Given the description of an element on the screen output the (x, y) to click on. 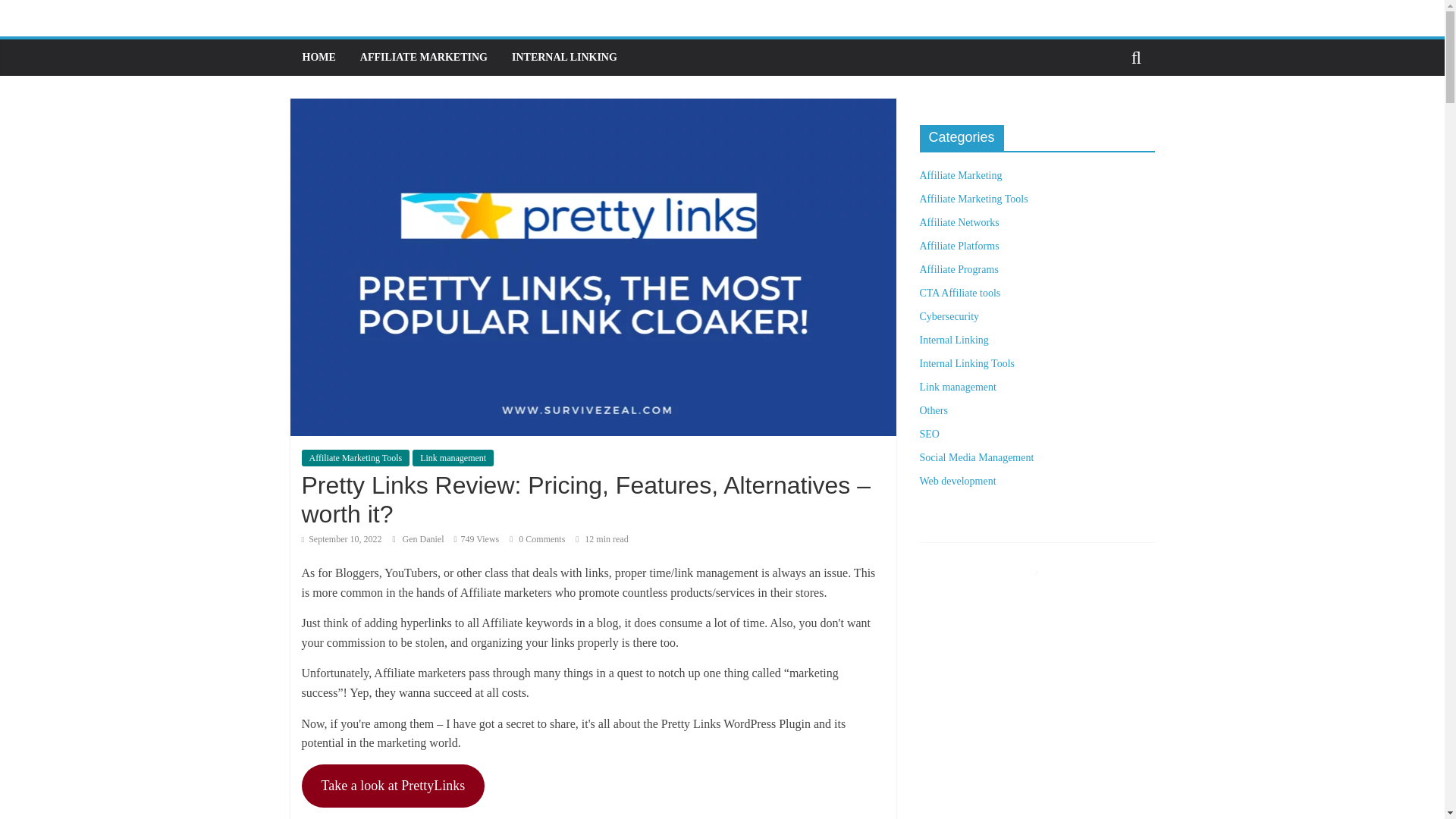
Gen Daniel (424, 538)
Affiliate Marketing Tools (972, 198)
Affiliate Marketing (959, 174)
Affiliate Platforms (958, 245)
4:35 pm (341, 538)
Affiliate Networks (958, 222)
Gen Daniel (424, 538)
Link management (452, 457)
HOME (318, 57)
Affiliate Marketing Tools (355, 457)
AFFILIATE MARKETING (423, 57)
INTERNAL LINKING (563, 57)
0 Comments (536, 538)
September 10, 2022 (341, 538)
Take a look at PrettyLinks (392, 785)
